Given the description of an element on the screen output the (x, y) to click on. 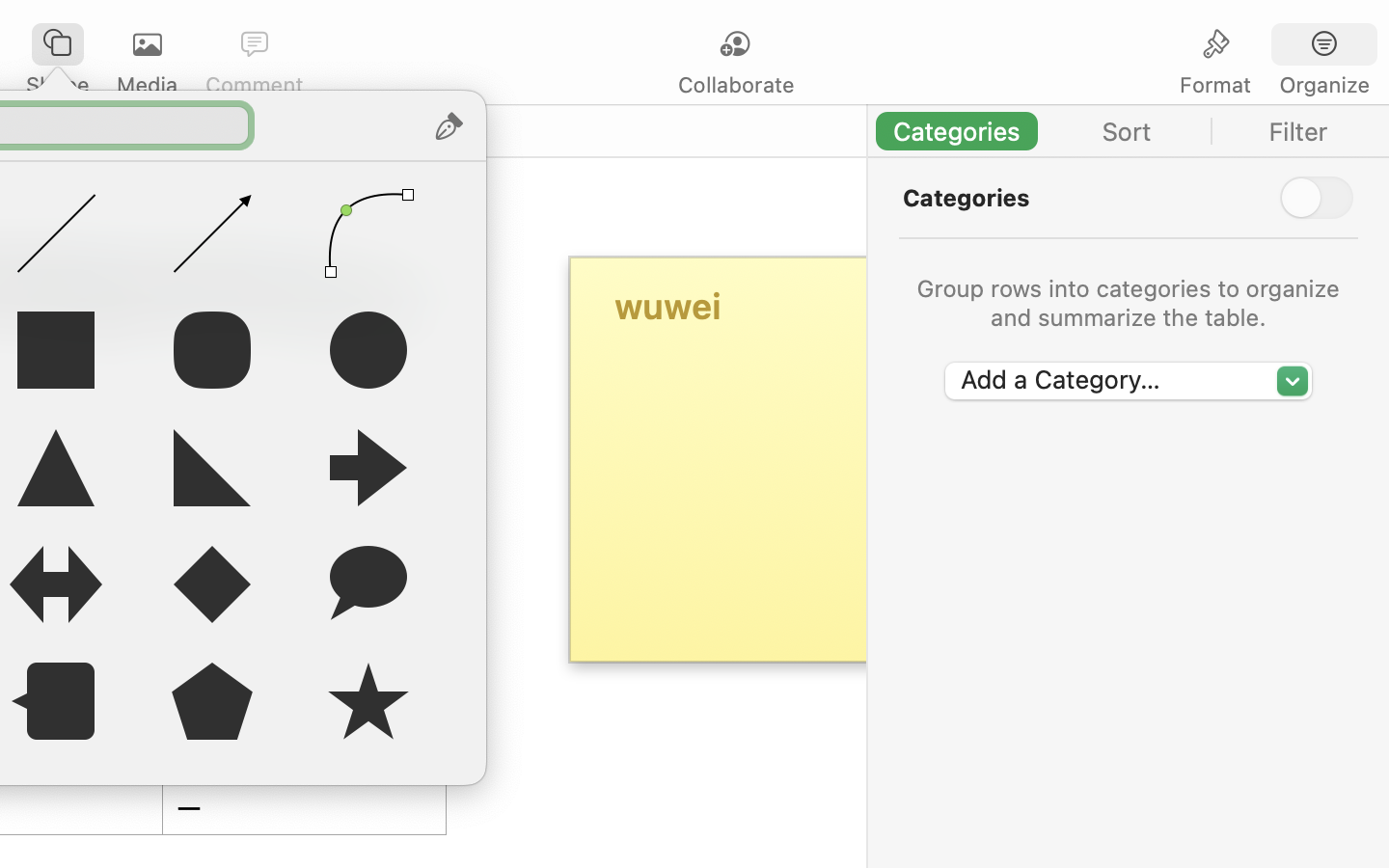
Media Element type: AXStaticText (146, 84)
Group rows into categories to organize and summarize the table. Element type: AXStaticText (1128, 302)
